Given the description of an element on the screen output the (x, y) to click on. 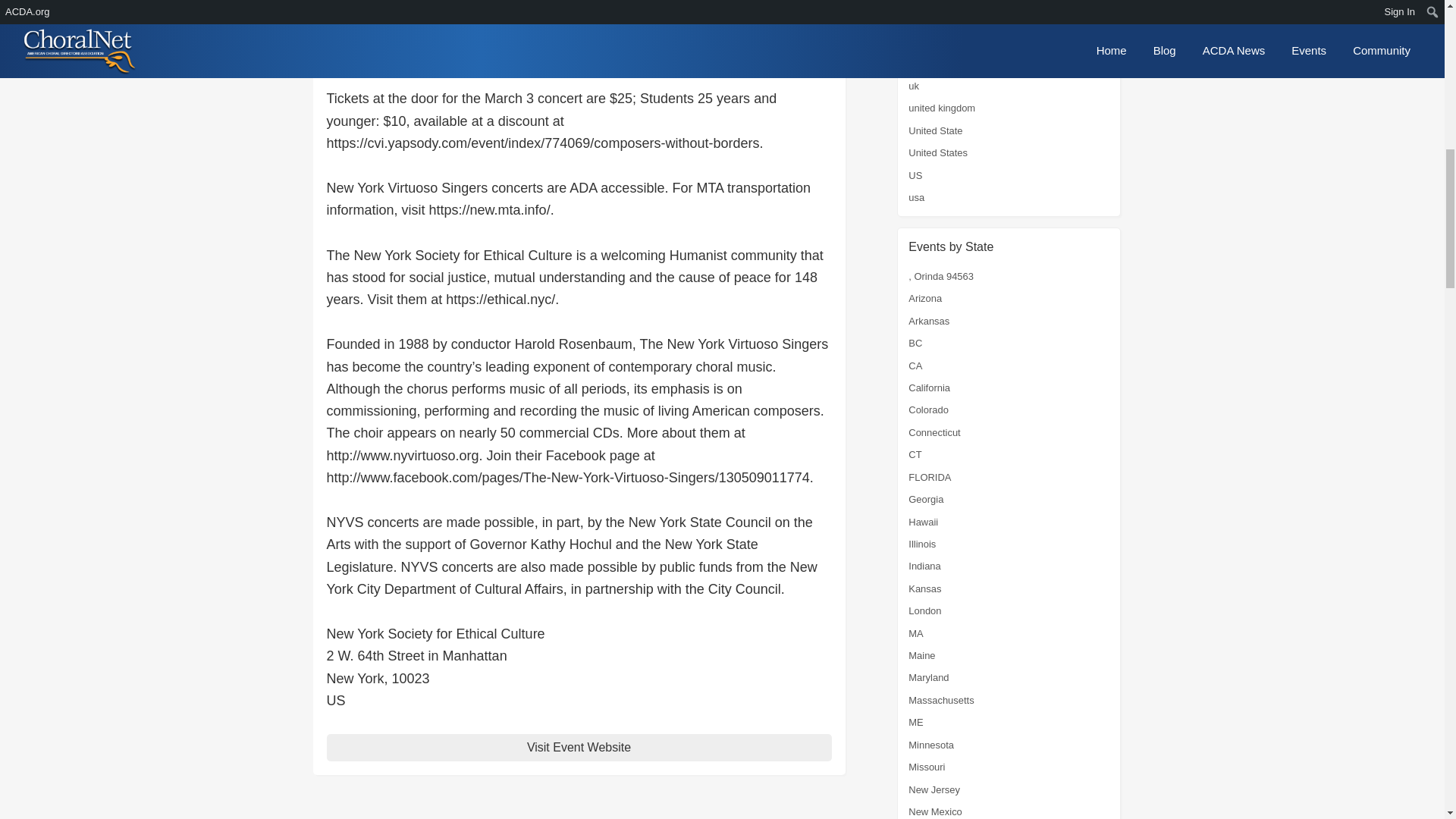
Turkey (922, 41)
Portugal (926, 1)
Visit Event Website (578, 746)
Rhode Island (937, 19)
U.S. (917, 63)
uk (913, 85)
